Given the description of an element on the screen output the (x, y) to click on. 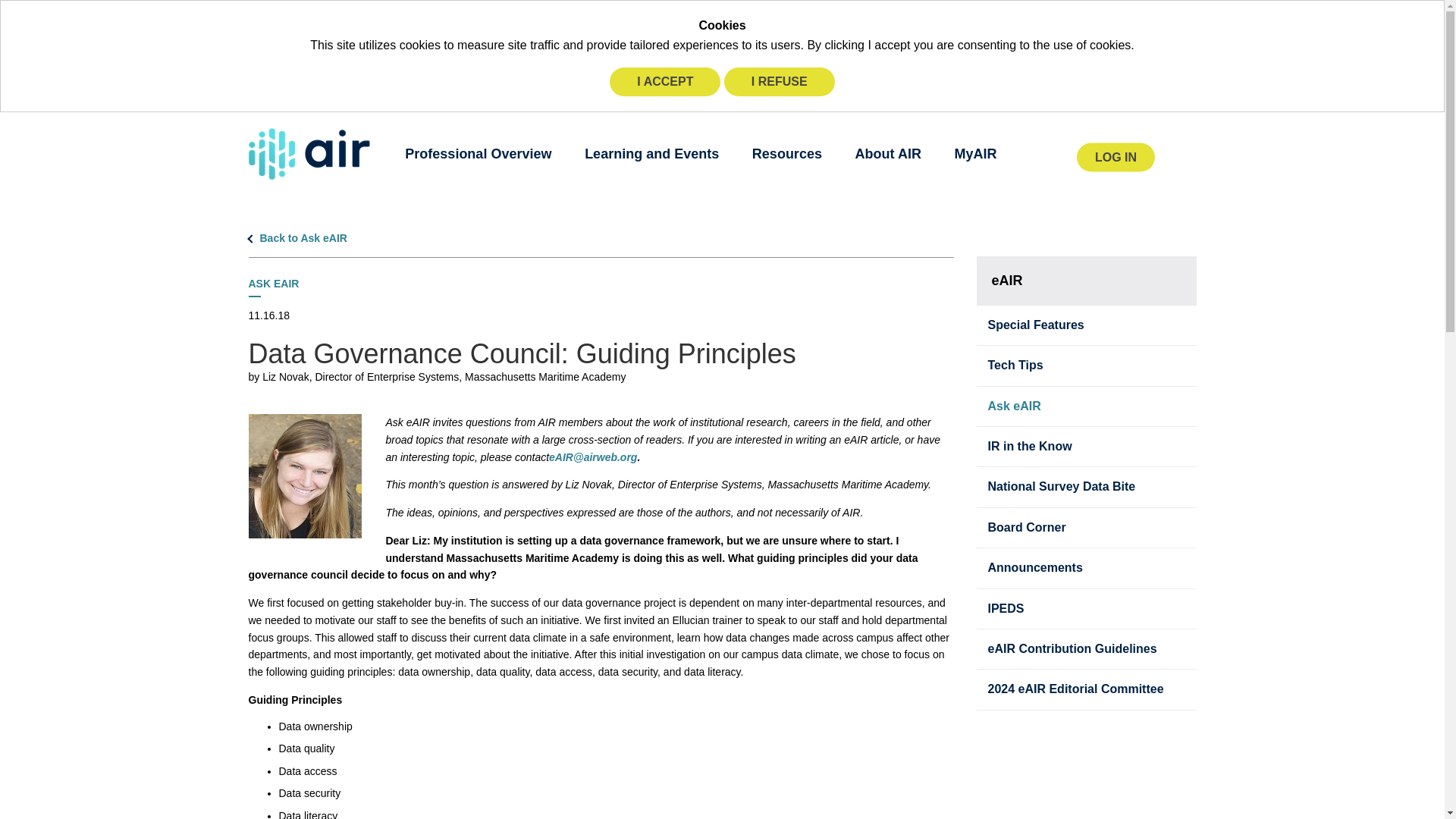
Resources (786, 153)
I ACCEPT (665, 81)
Learning and Events (651, 153)
I REFUSE (778, 81)
Professional Overview (477, 153)
